Given the description of an element on the screen output the (x, y) to click on. 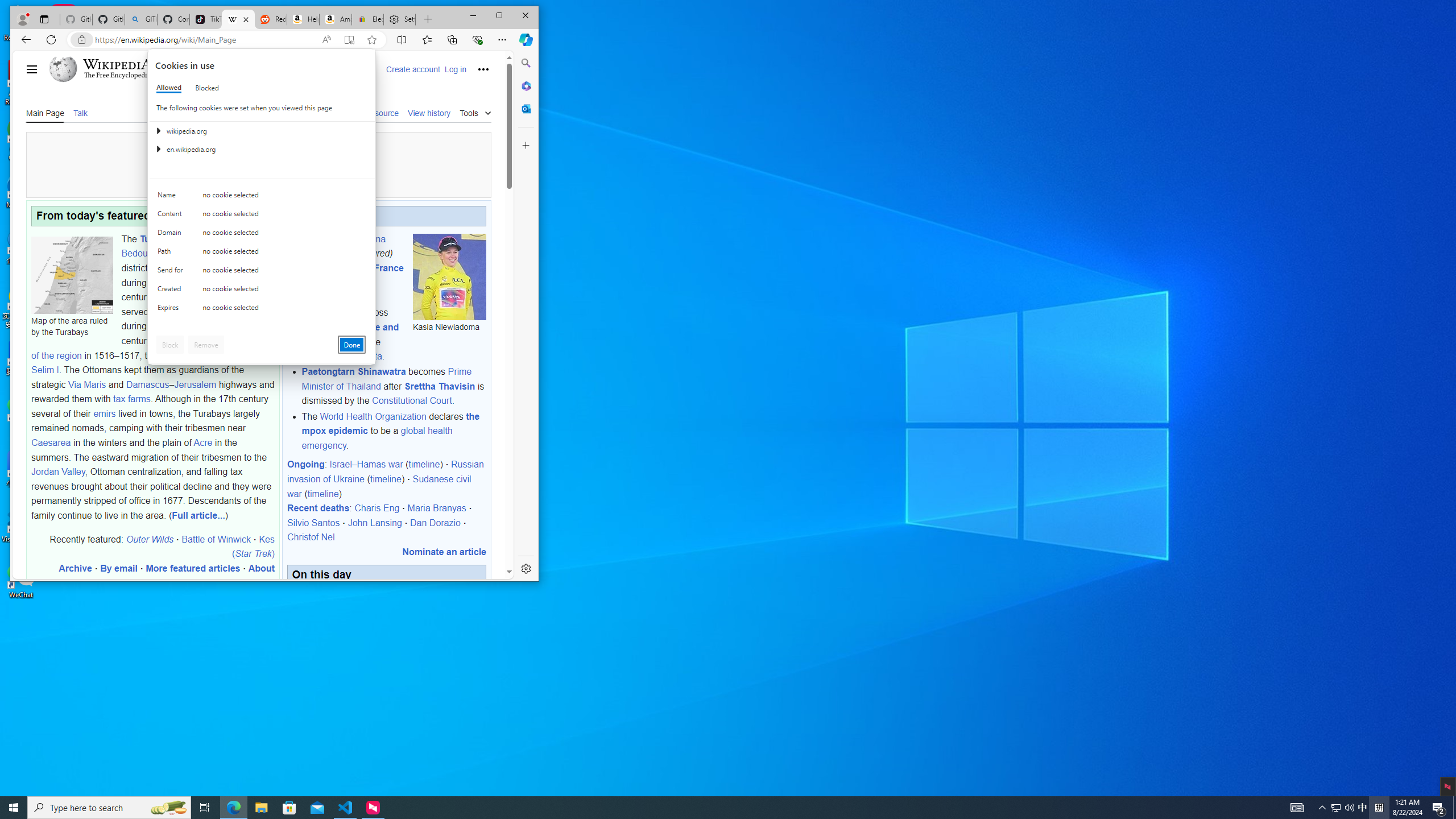
User Promoted Notification Area (1335, 807)
Done (1342, 807)
Allowed (351, 344)
Q2790: 100% (169, 87)
Search highlights icon opens search home window (1349, 807)
Domain (167, 807)
Task View (172, 235)
Content (204, 807)
Running applications (172, 216)
Class: c0153 c0157 c0154 (707, 807)
Microsoft Store (261, 197)
Block (289, 807)
